Given the description of an element on the screen output the (x, y) to click on. 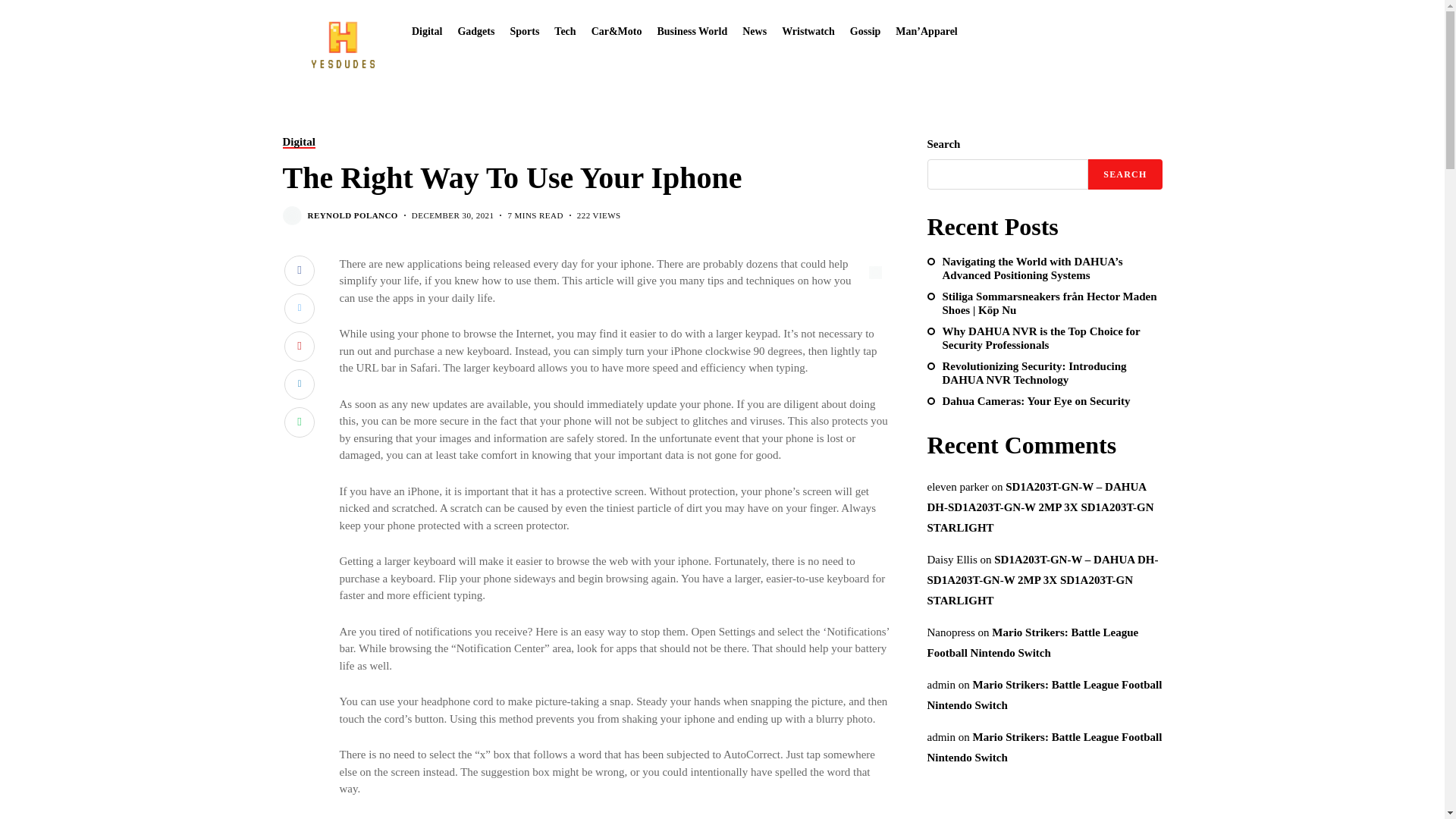
Gossip (865, 30)
Wristwatch (807, 30)
News (754, 30)
Digital (427, 30)
Business World (691, 30)
Posts by Reynold Polanco (352, 215)
Gadgets (476, 30)
Tech (564, 30)
Sports (523, 30)
